Given the description of an element on the screen output the (x, y) to click on. 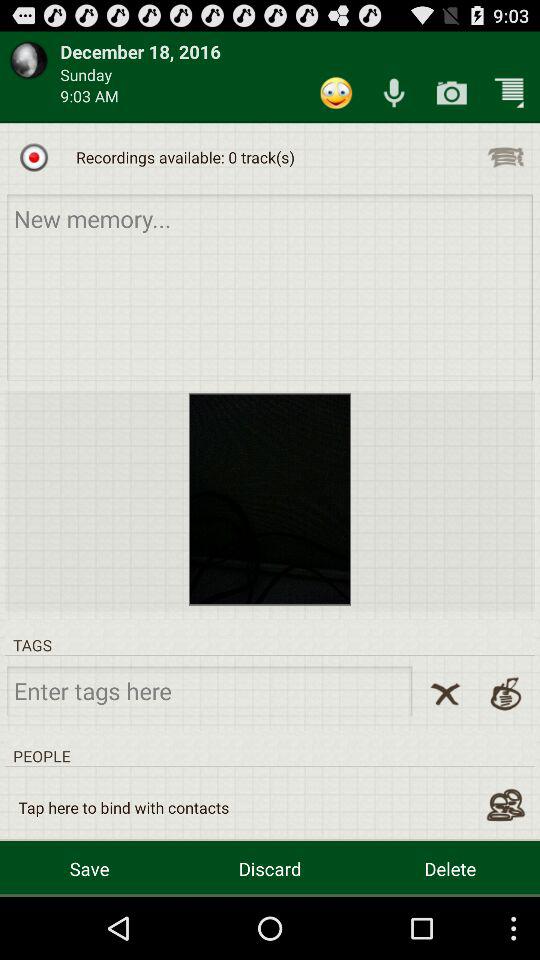
enable microphone (394, 92)
